Given the description of an element on the screen output the (x, y) to click on. 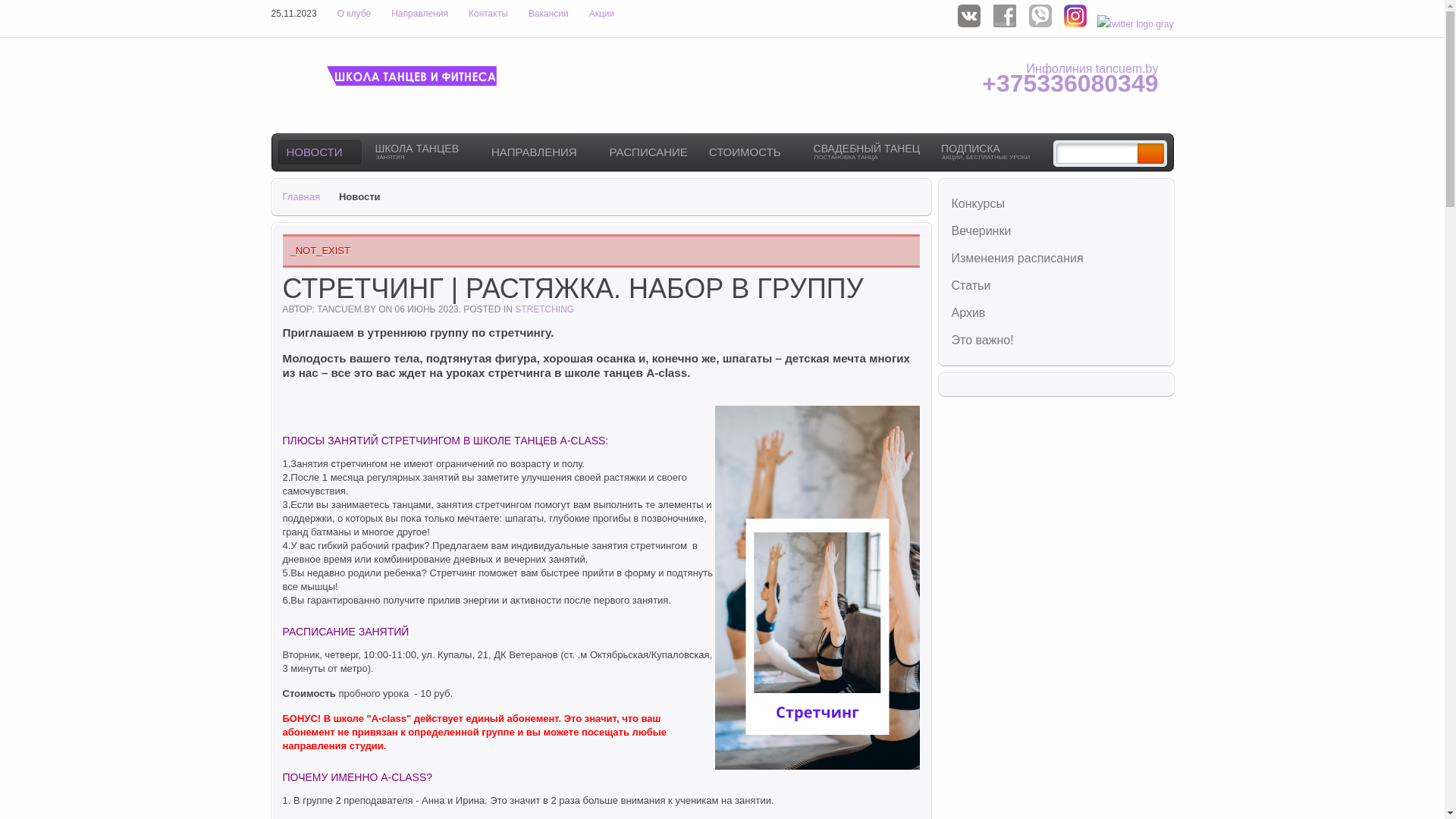
STRETCHING Element type: text (544, 309)
